Given the description of an element on the screen output the (x, y) to click on. 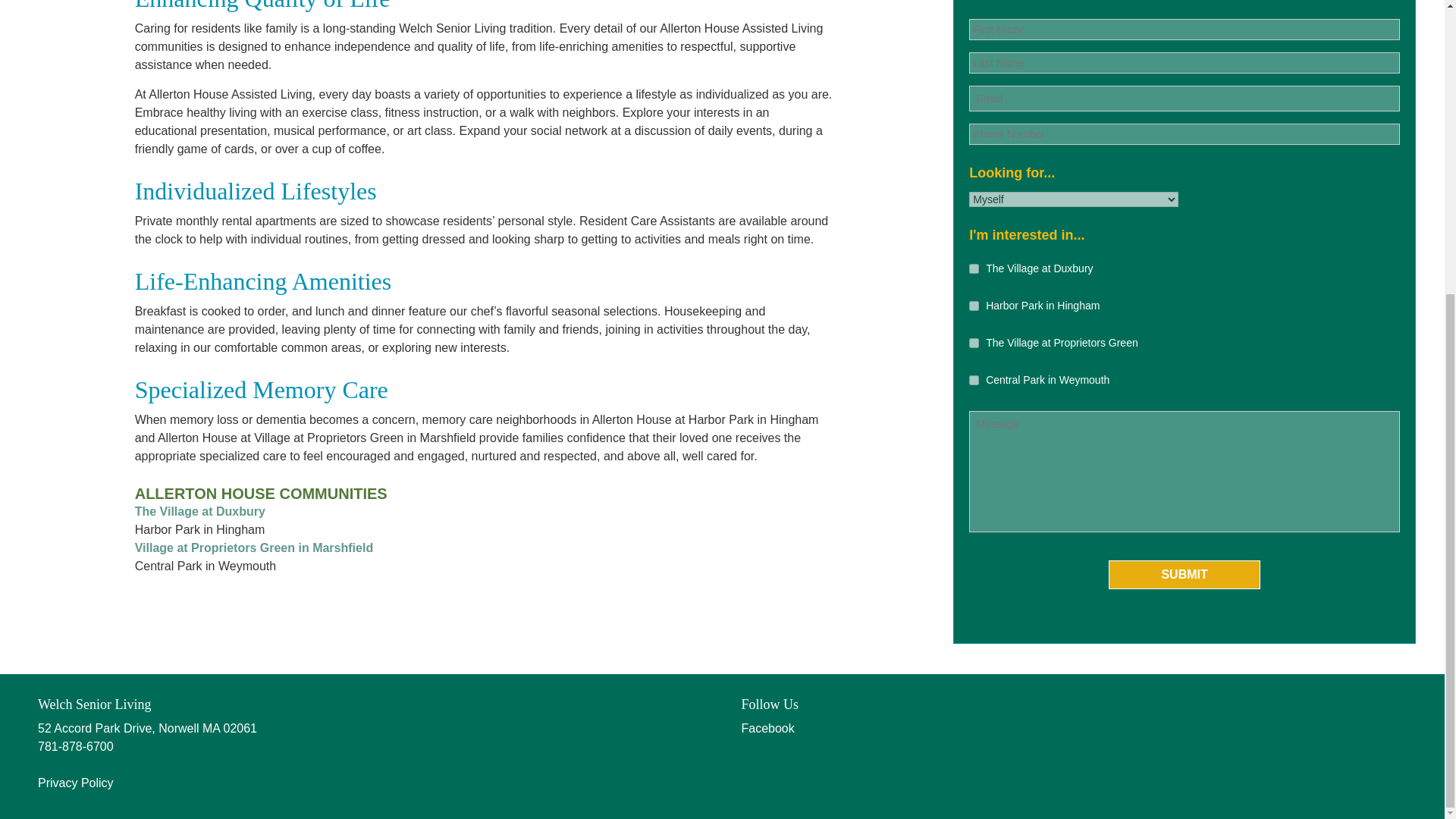
The Village at Duxbury (199, 511)
Submit (1184, 574)
Central Park in Weymouth (973, 379)
The Village at Proprietors Green (973, 343)
Village at Proprietors Green in Marshfield (253, 547)
Harbor Park in Hingham (973, 306)
Submit (1184, 574)
The Village at Duxbury (973, 268)
